Given the description of an element on the screen output the (x, y) to click on. 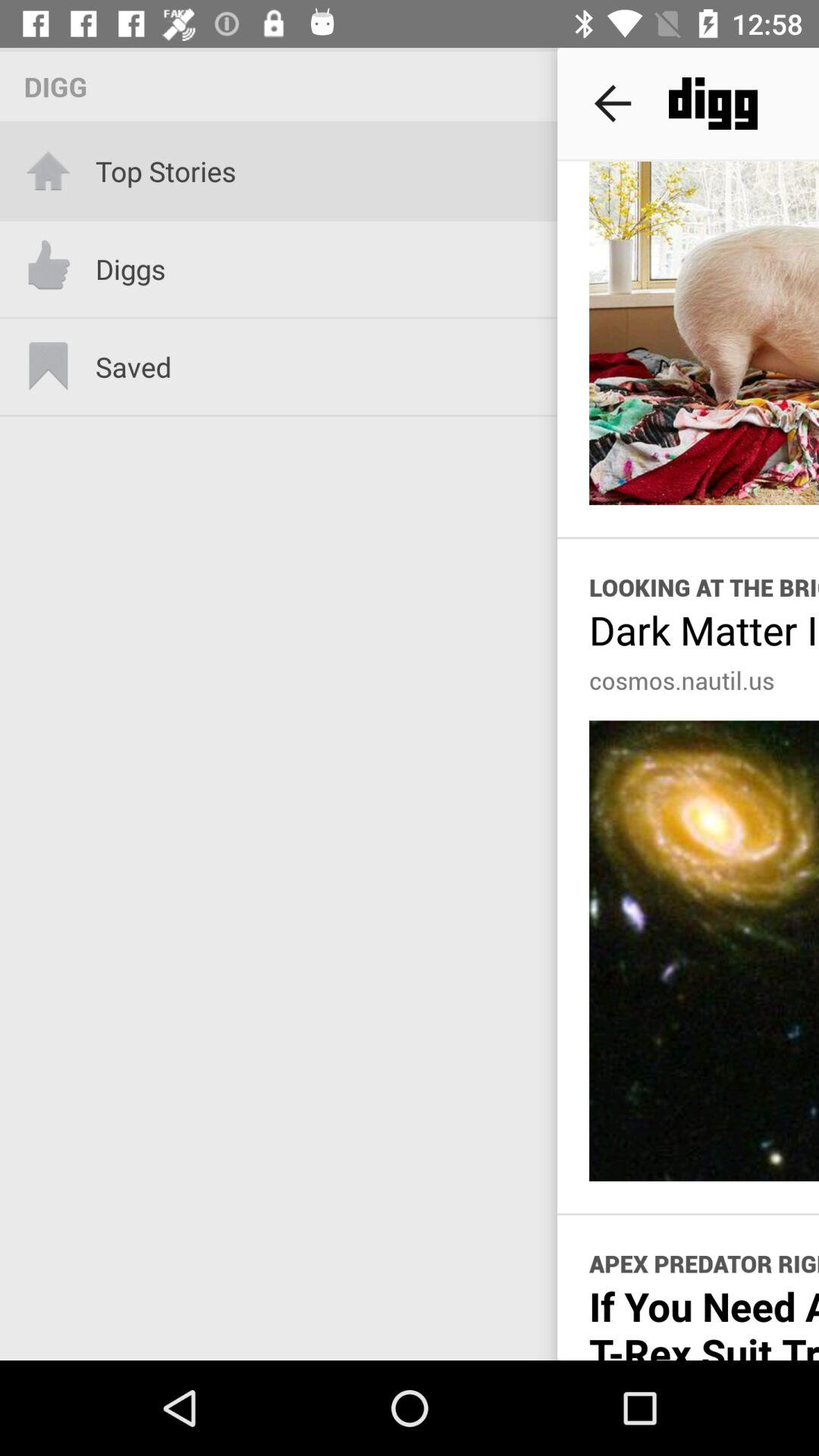
select the item to the right of the digg icon (612, 103)
